Given the description of an element on the screen output the (x, y) to click on. 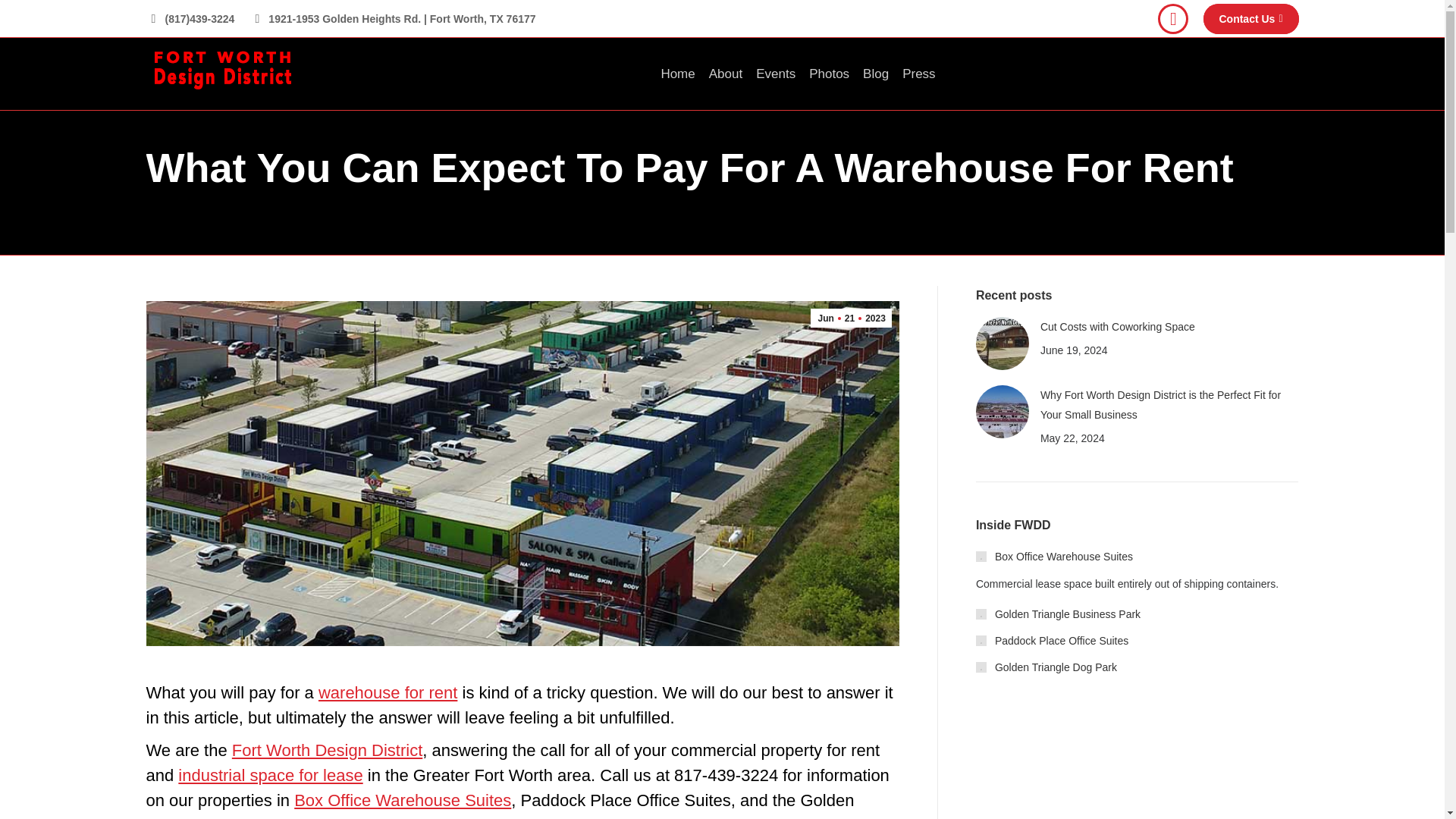
bows-m900 (850, 317)
Fort Worth Design District (269, 774)
Facebook page opens in new window (326, 750)
Box Office Warehouse Suites (1172, 19)
warehouse for rent (402, 800)
Facebook page opens in new window (387, 692)
Contact Us (1172, 19)
10:16 am (1251, 19)
